Given the description of an element on the screen output the (x, y) to click on. 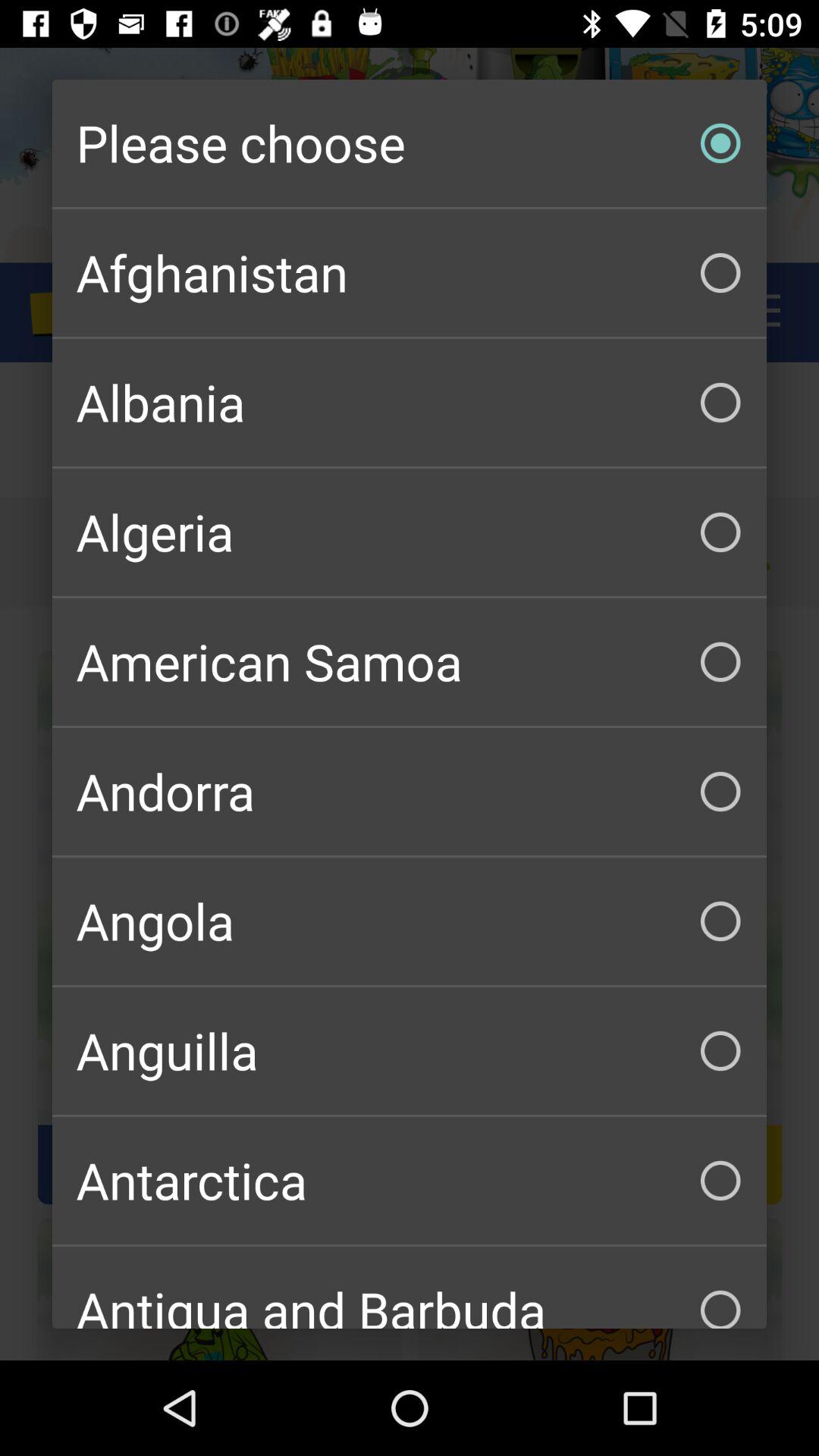
launch item below the antarctica checkbox (409, 1287)
